Given the description of an element on the screen output the (x, y) to click on. 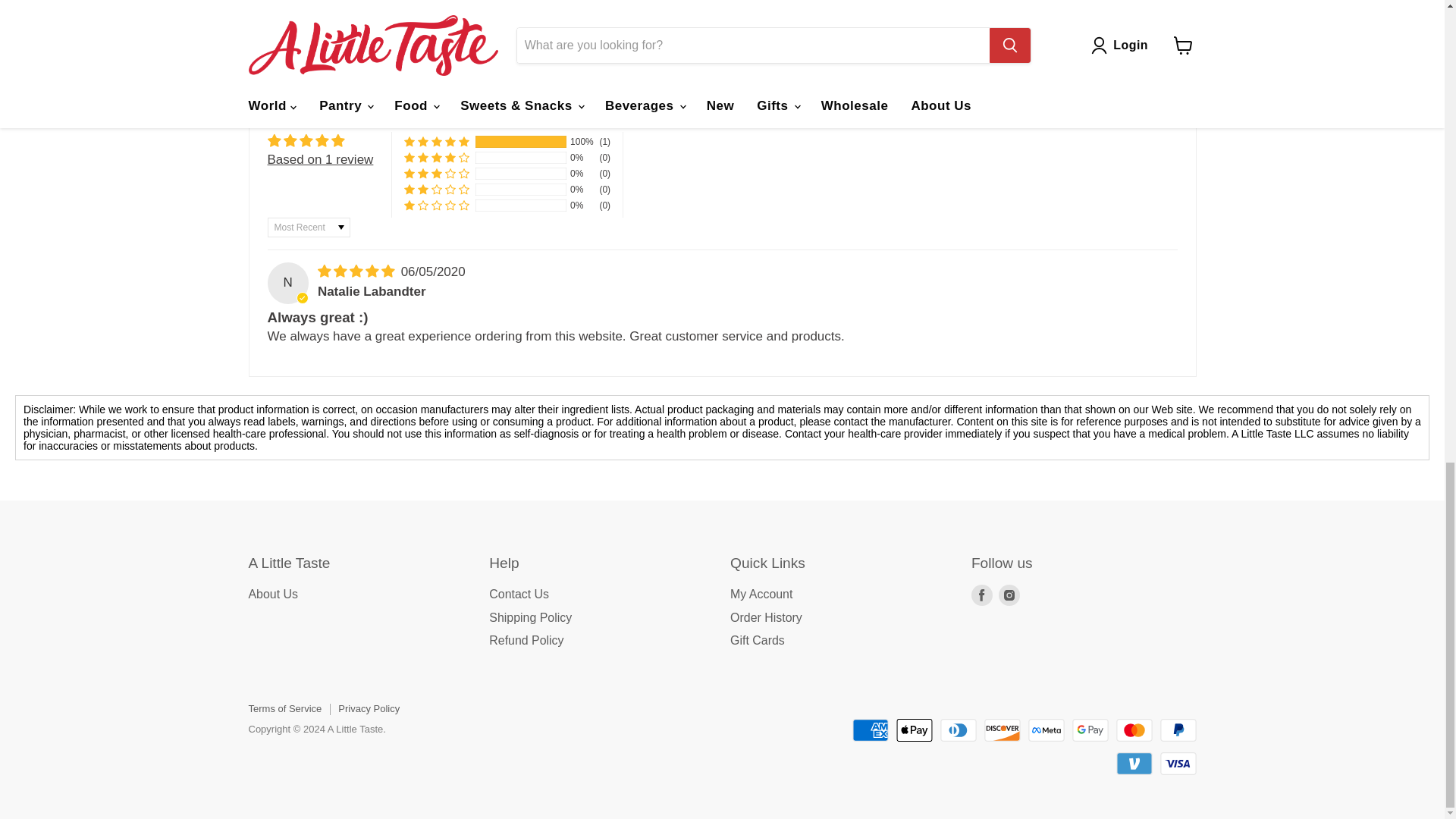
Google Pay (1089, 730)
Discover (1002, 730)
Facebook (981, 595)
Instagram (1009, 595)
American Express (869, 730)
Diners Club (958, 730)
Meta Pay (1045, 730)
Apple Pay (914, 730)
